Given the description of an element on the screen output the (x, y) to click on. 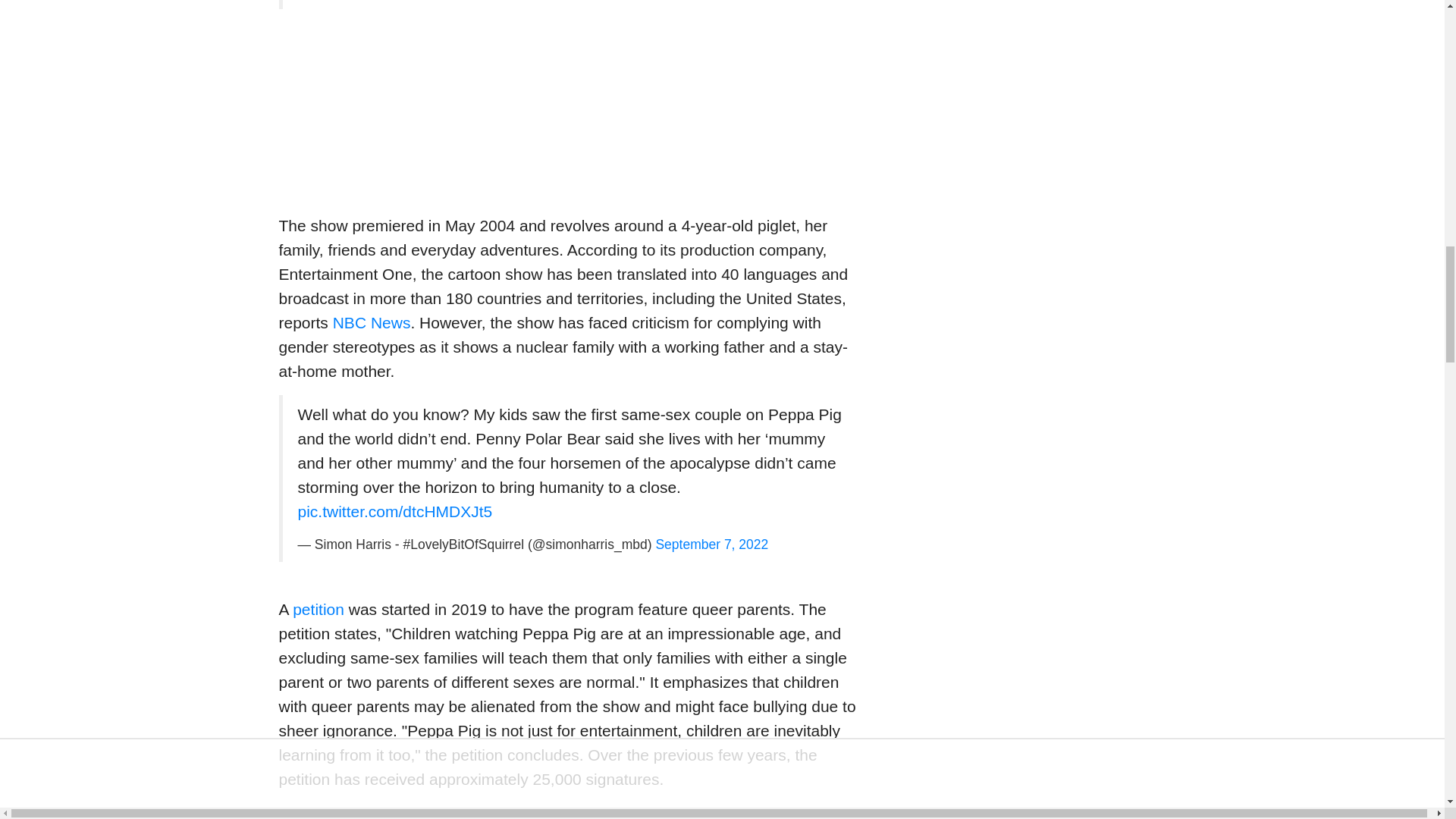
NBC News (371, 322)
September 7, 2022 (711, 544)
petition (317, 609)
